Given the description of an element on the screen output the (x, y) to click on. 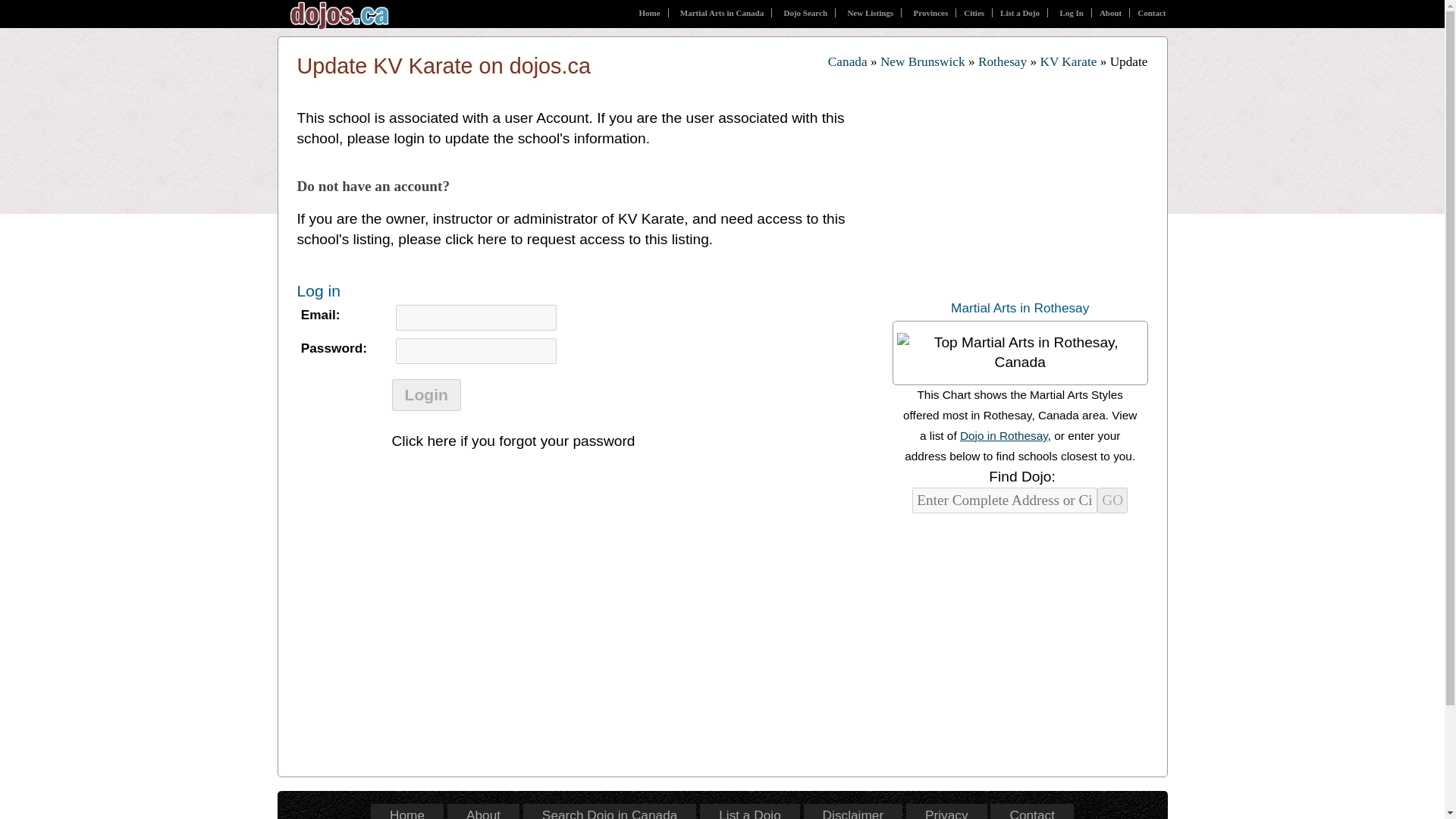
Martial Arts in Canada (721, 12)
Search Dojo in Canada (805, 12)
click here (475, 238)
Dojos in Canada (847, 61)
Home (407, 813)
Disclaimer (852, 813)
Login (425, 395)
Martial Arts in Canada (721, 12)
Home (649, 12)
List a Dojo (749, 813)
